Given the description of an element on the screen output the (x, y) to click on. 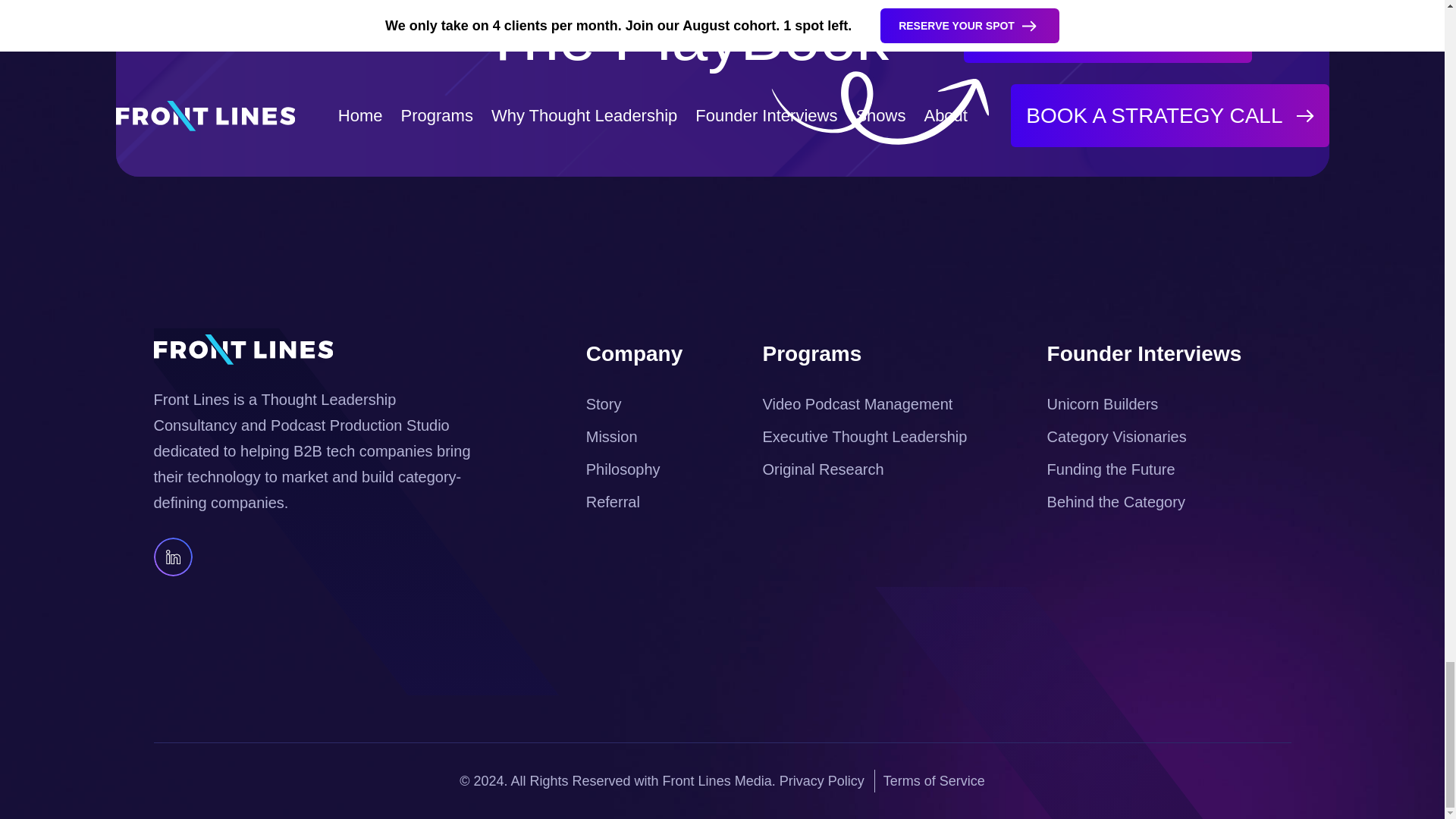
Story (603, 403)
Executive Thought Leadership (865, 436)
Mission (611, 436)
Referral (613, 501)
Unicorn Builders (1102, 403)
Video Podcast Management (857, 403)
Original Research (822, 469)
Philosophy (623, 469)
Funding the Future (1110, 469)
GET THE GUIDE (1107, 31)
